Given the description of an element on the screen output the (x, y) to click on. 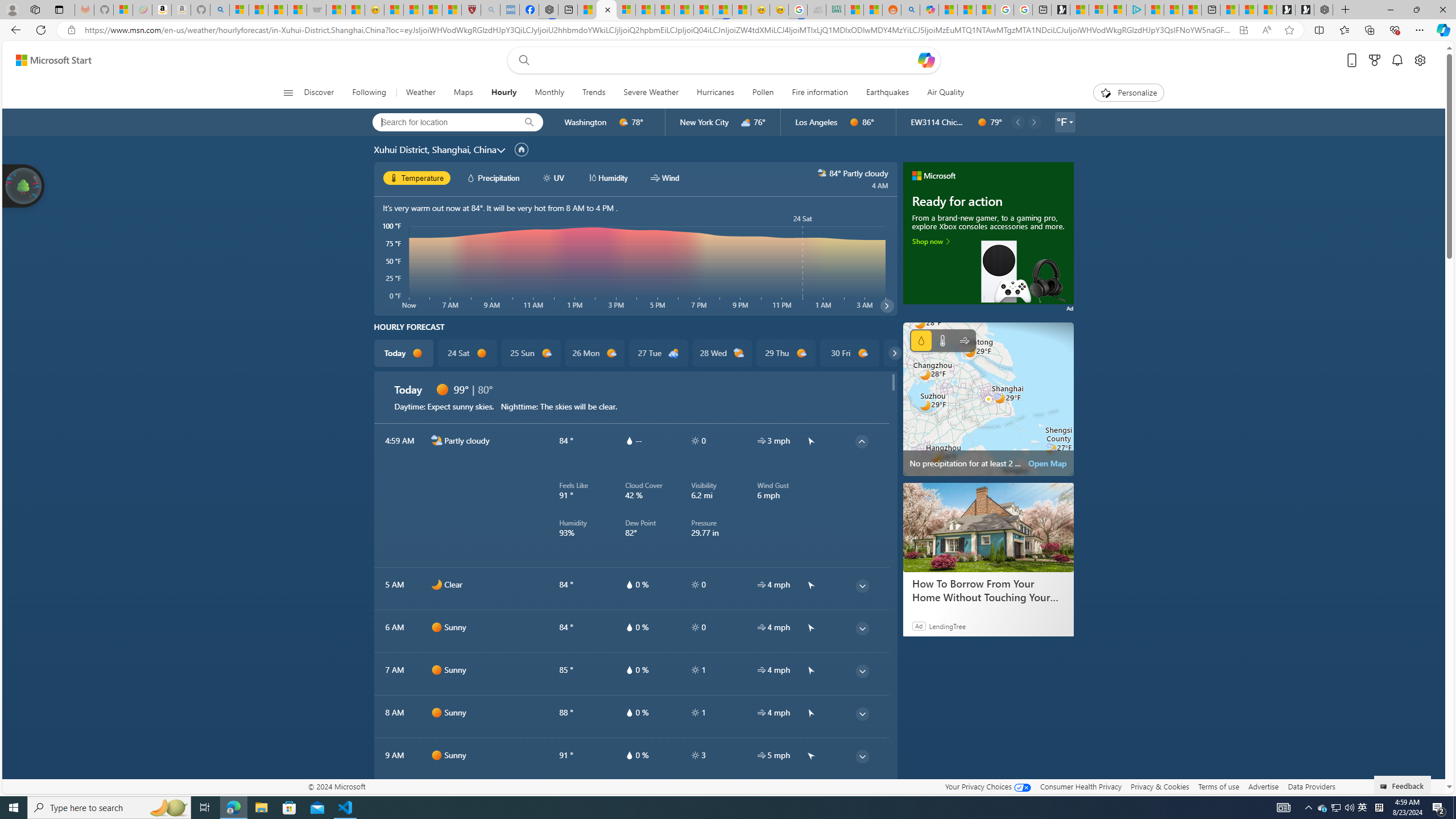
14 Common Myths Debunked By Scientific Facts (683, 9)
Microsoft Copilot in Bing (929, 9)
hourlyTable/wind (761, 755)
Your Privacy Choices (987, 786)
Maps (462, 92)
Search for location (440, 122)
locationBar/triangle (1070, 122)
These 3 Stocks Pay You More Than 5% to Own Them (1192, 9)
Consumer Health Privacy (1080, 785)
